Given the description of an element on the screen output the (x, y) to click on. 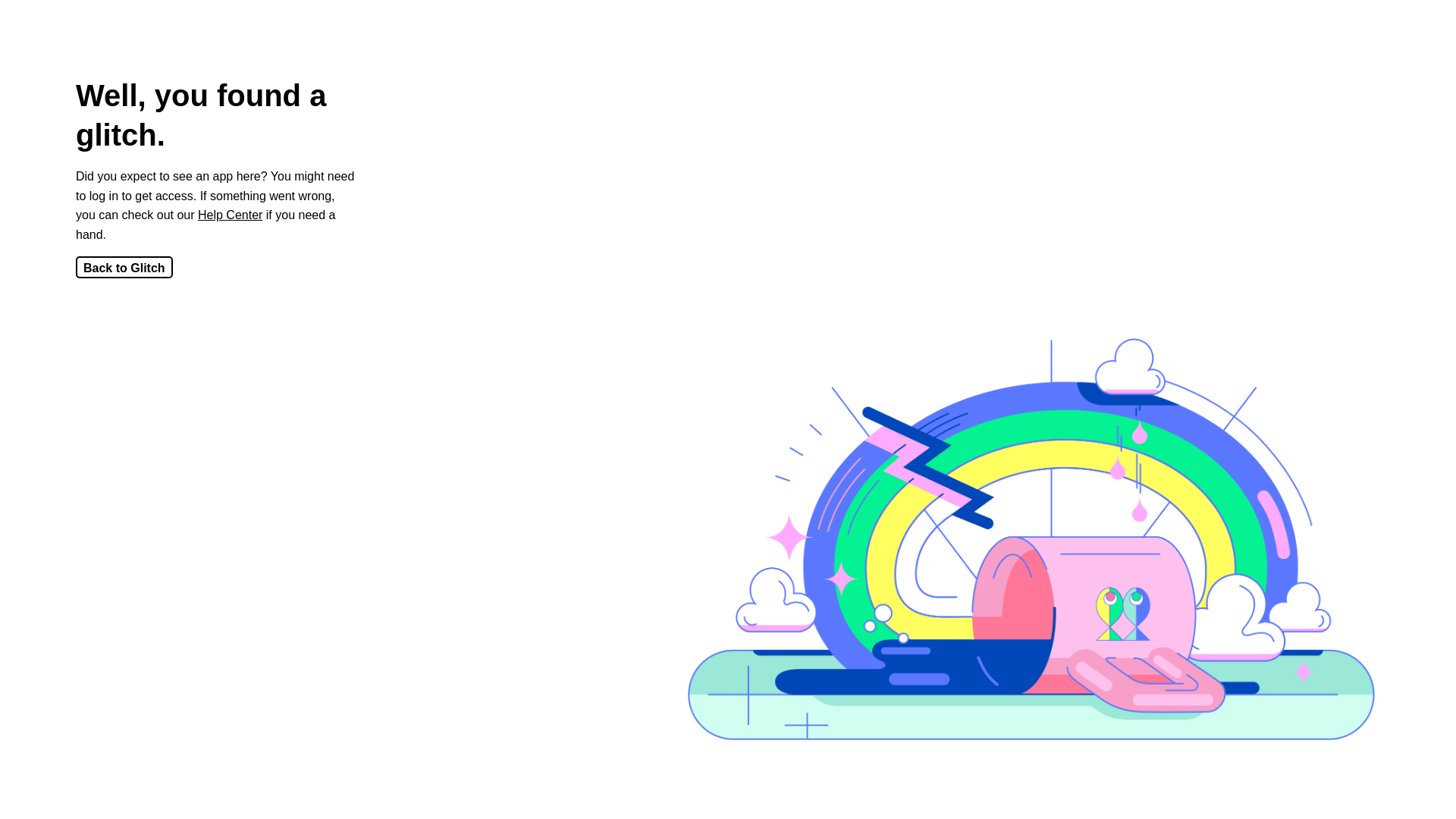
Back to Glitch Element type: text (123, 267)
Help Center Element type: text (229, 214)
